Given the description of an element on the screen output the (x, y) to click on. 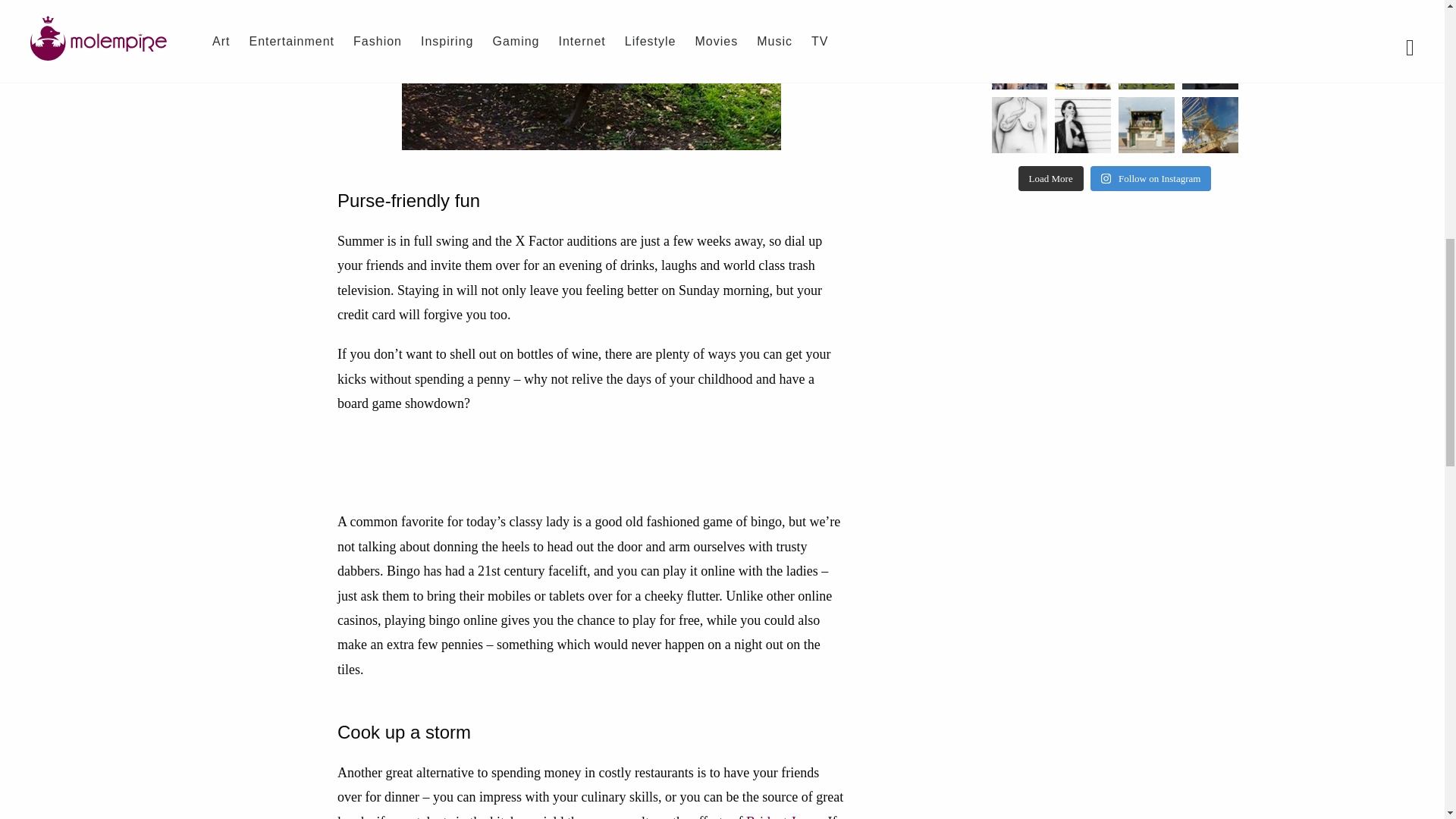
Bridget Jones (783, 816)
